Given the description of an element on the screen output the (x, y) to click on. 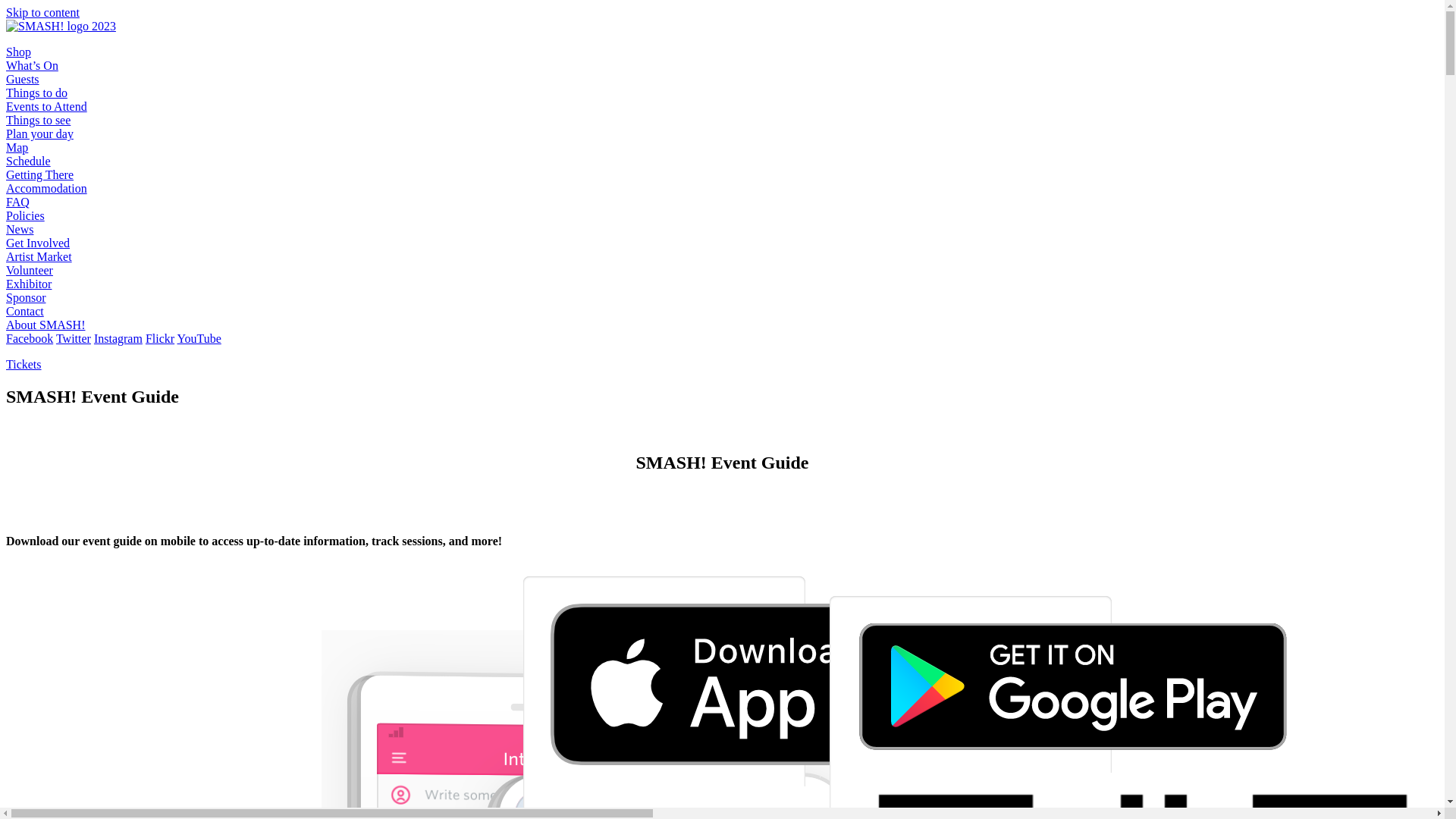
About SMASH! Element type: text (45, 324)
Skip to content Element type: text (42, 12)
Volunteer Element type: text (29, 269)
Plan your day Element type: text (39, 133)
YouTube Element type: text (199, 338)
Accommodation Element type: text (46, 188)
Contact Element type: text (24, 310)
Getting There Element type: text (39, 174)
Flickr Element type: text (159, 338)
Instagram Element type: text (118, 338)
Get Involved Element type: text (37, 242)
Things to see Element type: text (38, 119)
Sponsor Element type: text (25, 297)
Things to do Element type: text (36, 92)
Policies Element type: text (25, 215)
Exhibitor Element type: text (28, 283)
Guests Element type: text (22, 78)
Tickets Element type: text (23, 363)
Twitter Element type: text (73, 338)
FAQ Element type: text (17, 201)
Events to Attend Element type: text (46, 106)
Schedule Element type: text (28, 160)
Artist Market Element type: text (39, 256)
News Element type: text (19, 228)
Map Element type: text (17, 147)
Shop Element type: text (18, 51)
Facebook Element type: text (29, 338)
